Given the description of an element on the screen output the (x, y) to click on. 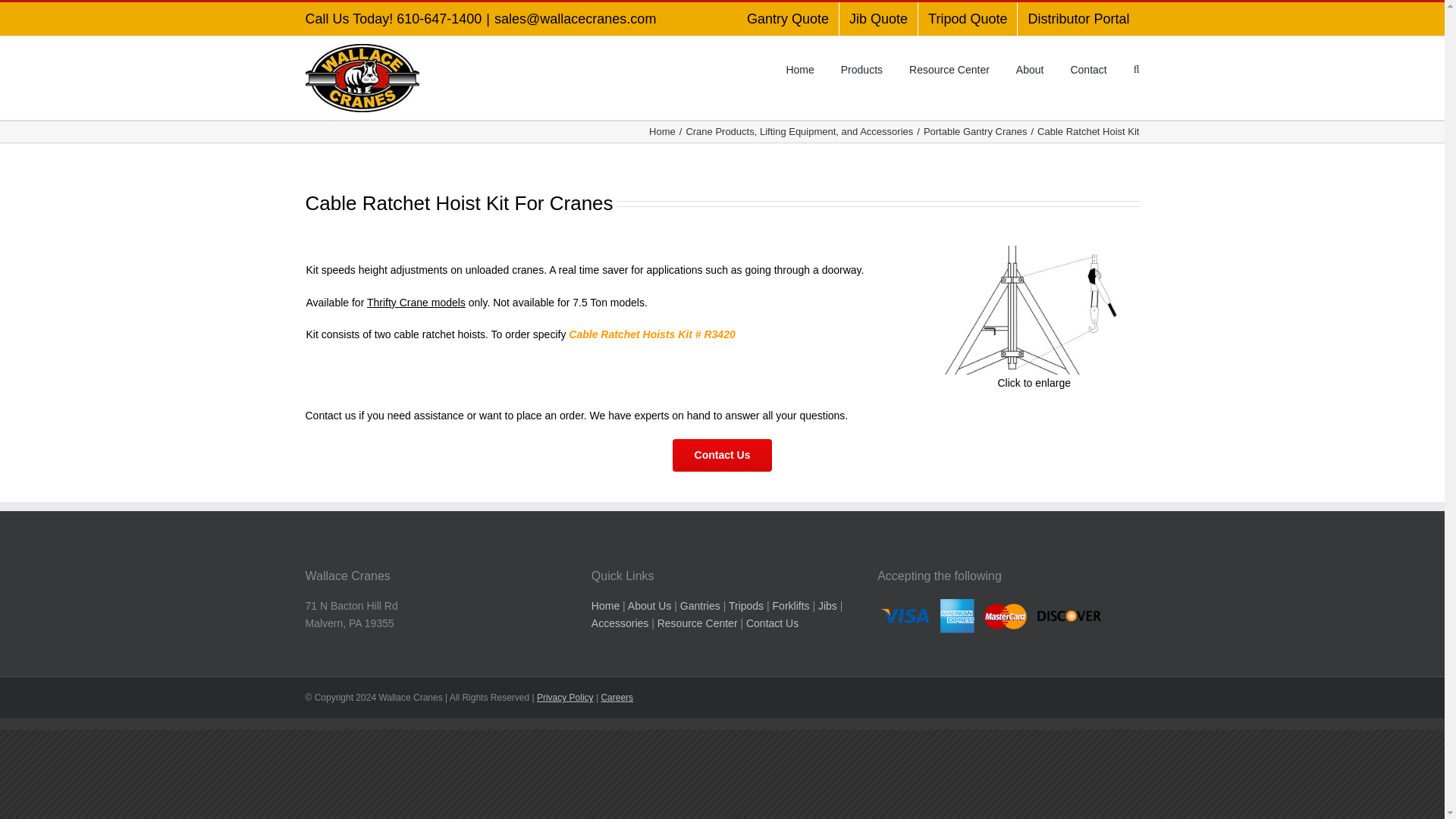
Tripod Quote (967, 19)
Gantry Quote (787, 19)
610-647-1400 (438, 18)
Jib Quote (878, 19)
Resource Center (949, 67)
Distributor Portal (1077, 19)
